Given the description of an element on the screen output the (x, y) to click on. 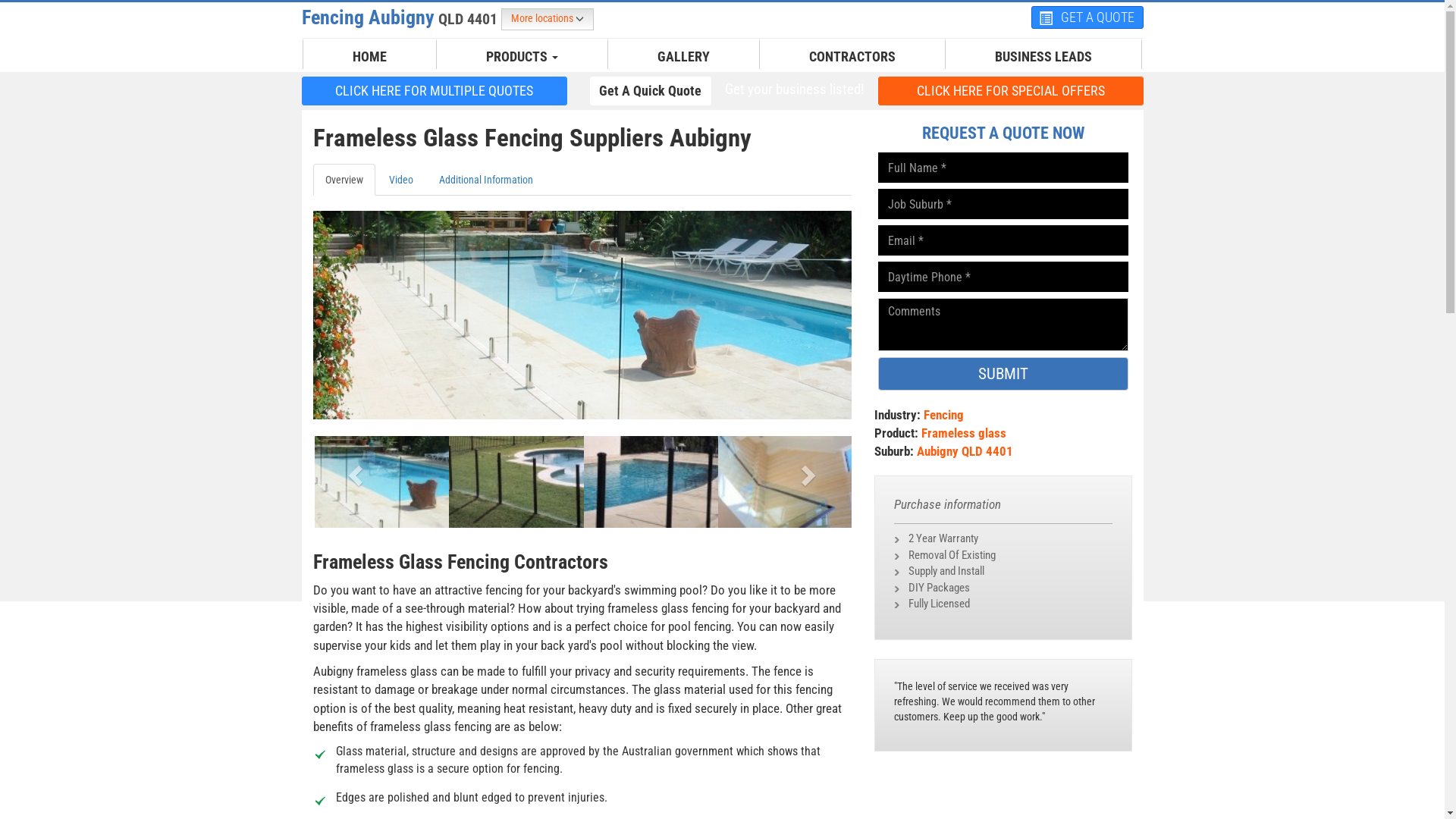
More locations Element type: text (546, 19)
Overview Element type: text (343, 179)
Get A Quick Quote Element type: text (650, 90)
GALLERY Element type: text (683, 56)
CLICK HERE FOR MULTIPLE QUOTES Element type: text (434, 90)
prev Element type: hover (352, 470)
CLICK HERE FOR SPECIAL OFFERS Element type: text (1010, 90)
Get your business listed! Element type: text (793, 89)
BUSINESS LEADS Element type: text (1042, 56)
Get A Quick Quote Element type: text (650, 90)
Additional Information Element type: text (485, 179)
Fencing Aubigny QLD 4401 Element type: text (401, 17)
GET A QUOTE Element type: text (1087, 17)
CLICK HERE FOR MULTIPLE QUOTES Element type: text (434, 90)
SUBMIT Element type: text (1003, 373)
Video Element type: text (400, 179)
PRODUCTS Element type: text (521, 56)
CLICK HERE FOR SPECIAL OFFERS Element type: text (1010, 90)
CONTRACTORS Element type: text (851, 56)
HOME Element type: text (369, 56)
